Given the description of an element on the screen output the (x, y) to click on. 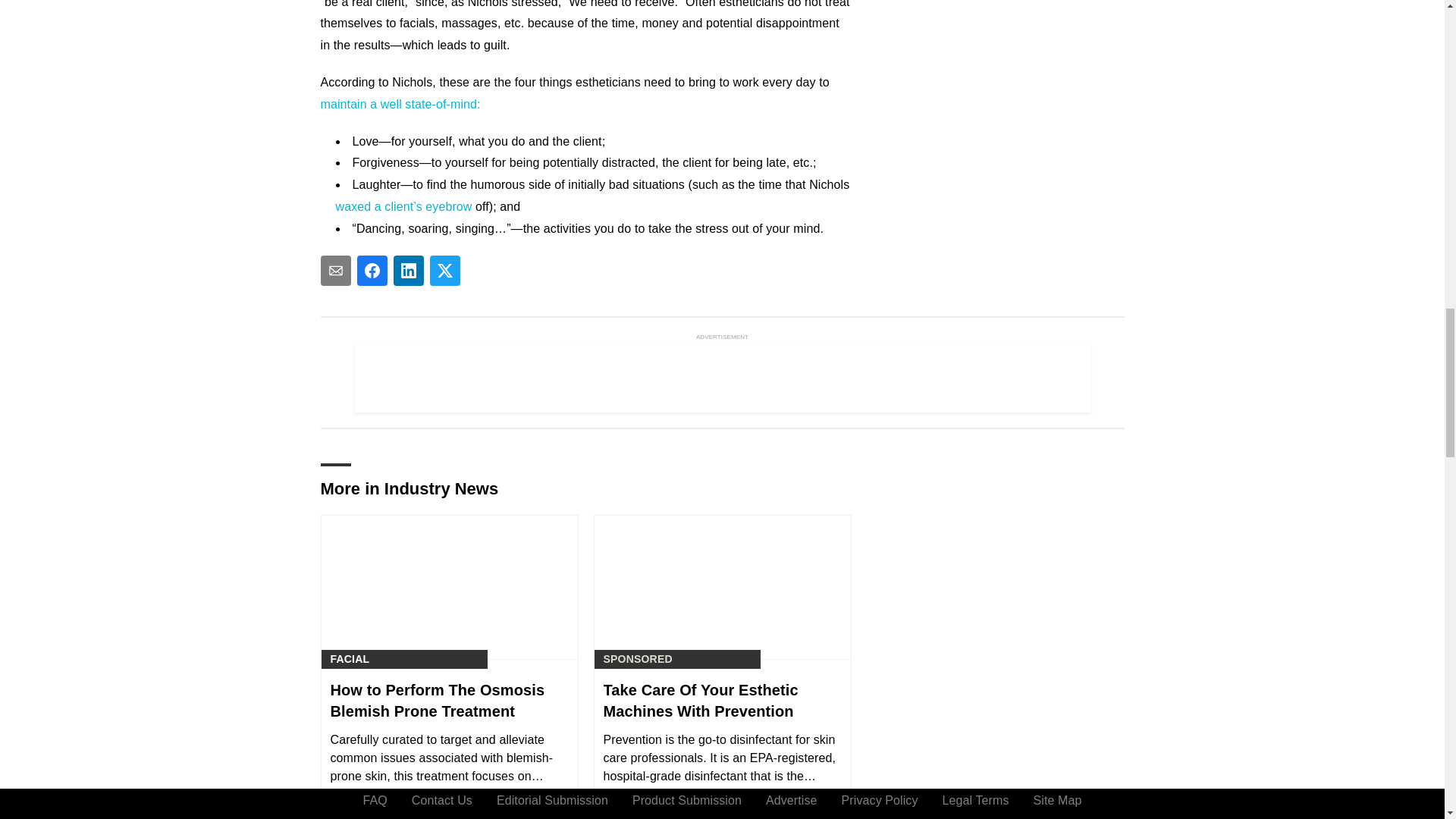
Share To facebook (371, 270)
Share To email (335, 270)
Share To twitter (444, 270)
Share To linkedin (408, 270)
